Given the description of an element on the screen output the (x, y) to click on. 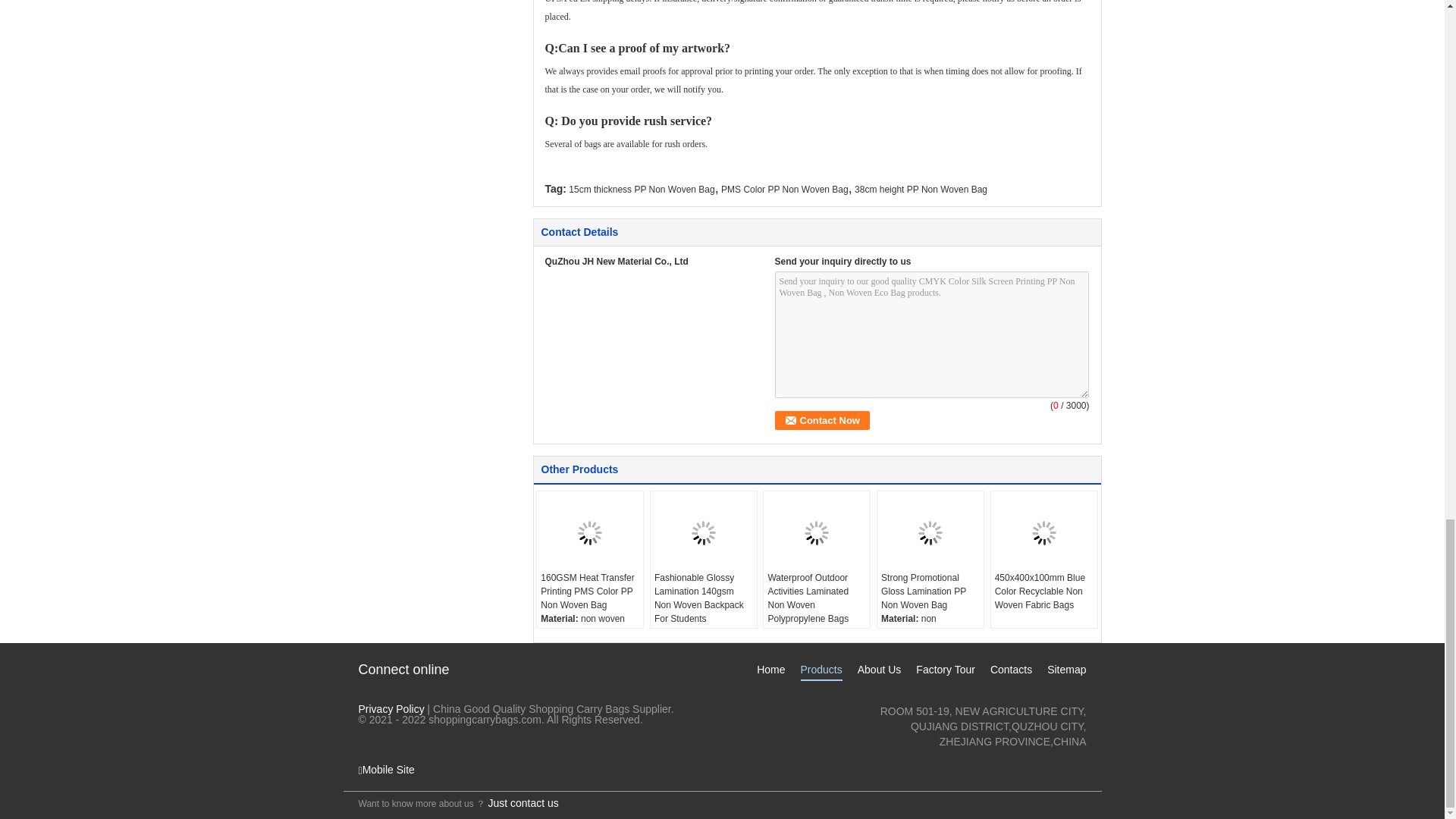
Contact Now (821, 420)
